Given the description of an element on the screen output the (x, y) to click on. 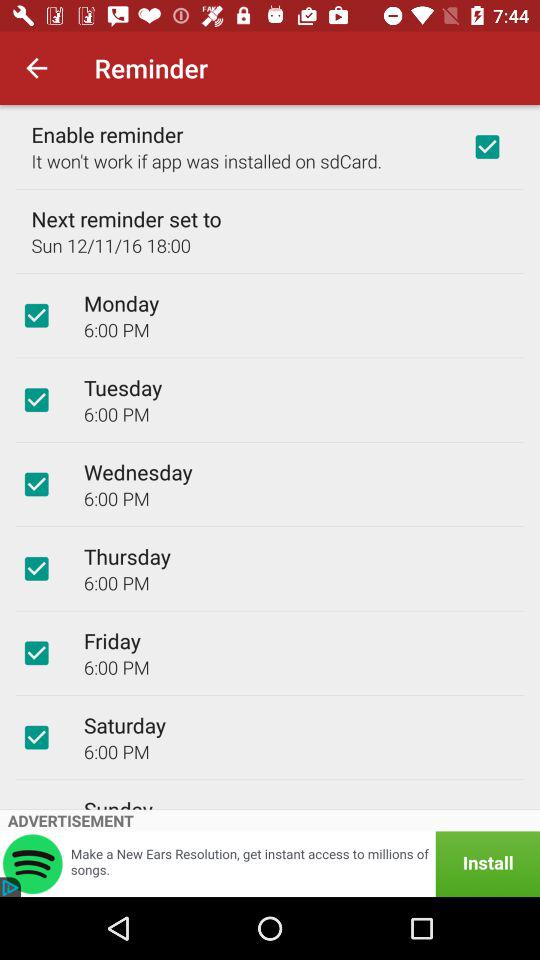
set reminders to alert you on a particular day and time (36, 737)
